Given the description of an element on the screen output the (x, y) to click on. 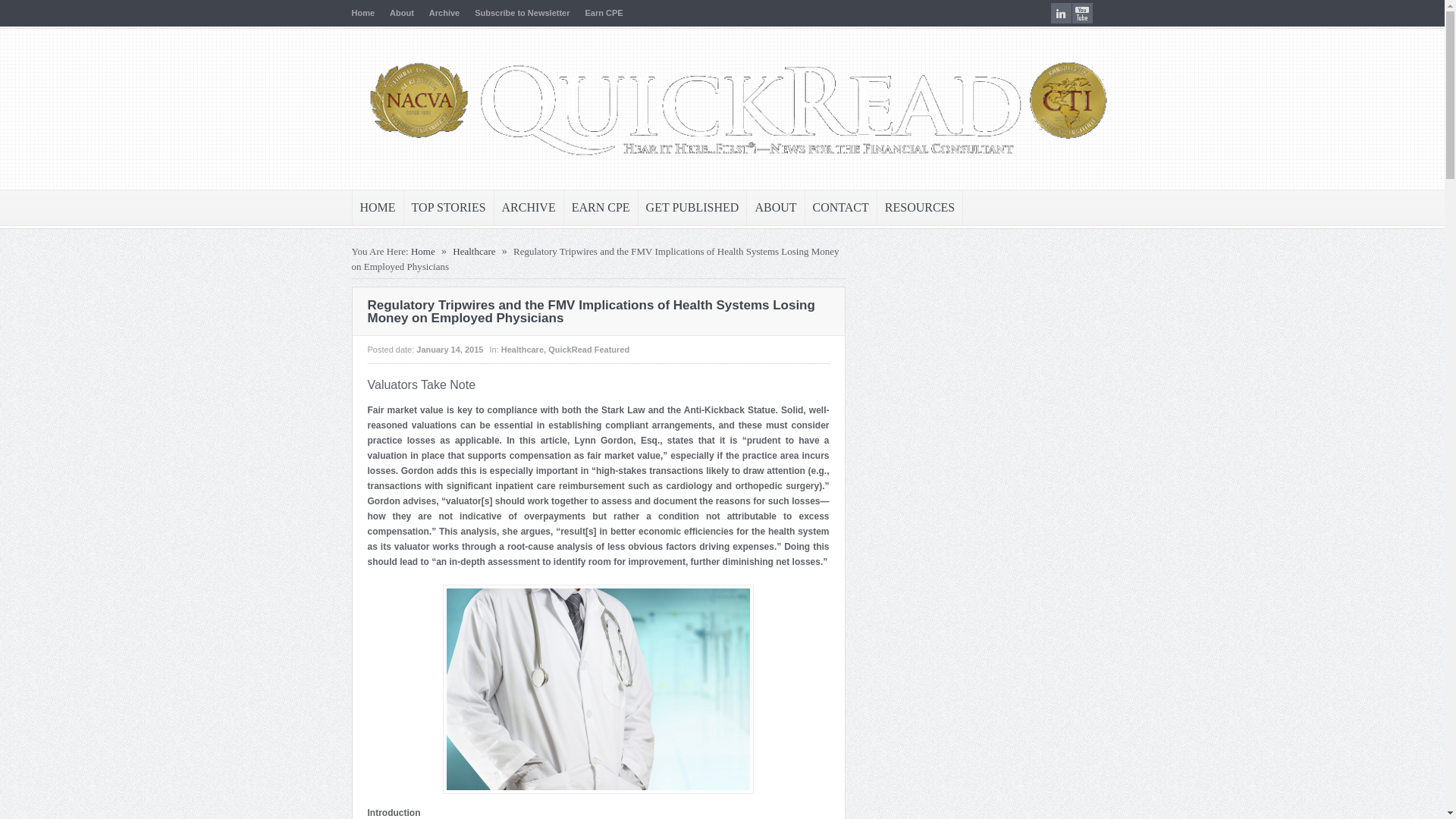
Subscribe to Newsletter (521, 12)
LinkedIn (1061, 13)
HOME (377, 207)
Home (422, 251)
EARN CPE (600, 207)
ABOUT (774, 207)
TOP STORIES (448, 207)
ARCHIVE (529, 207)
About (401, 12)
RESOURCES (919, 207)
